Given the description of an element on the screen output the (x, y) to click on. 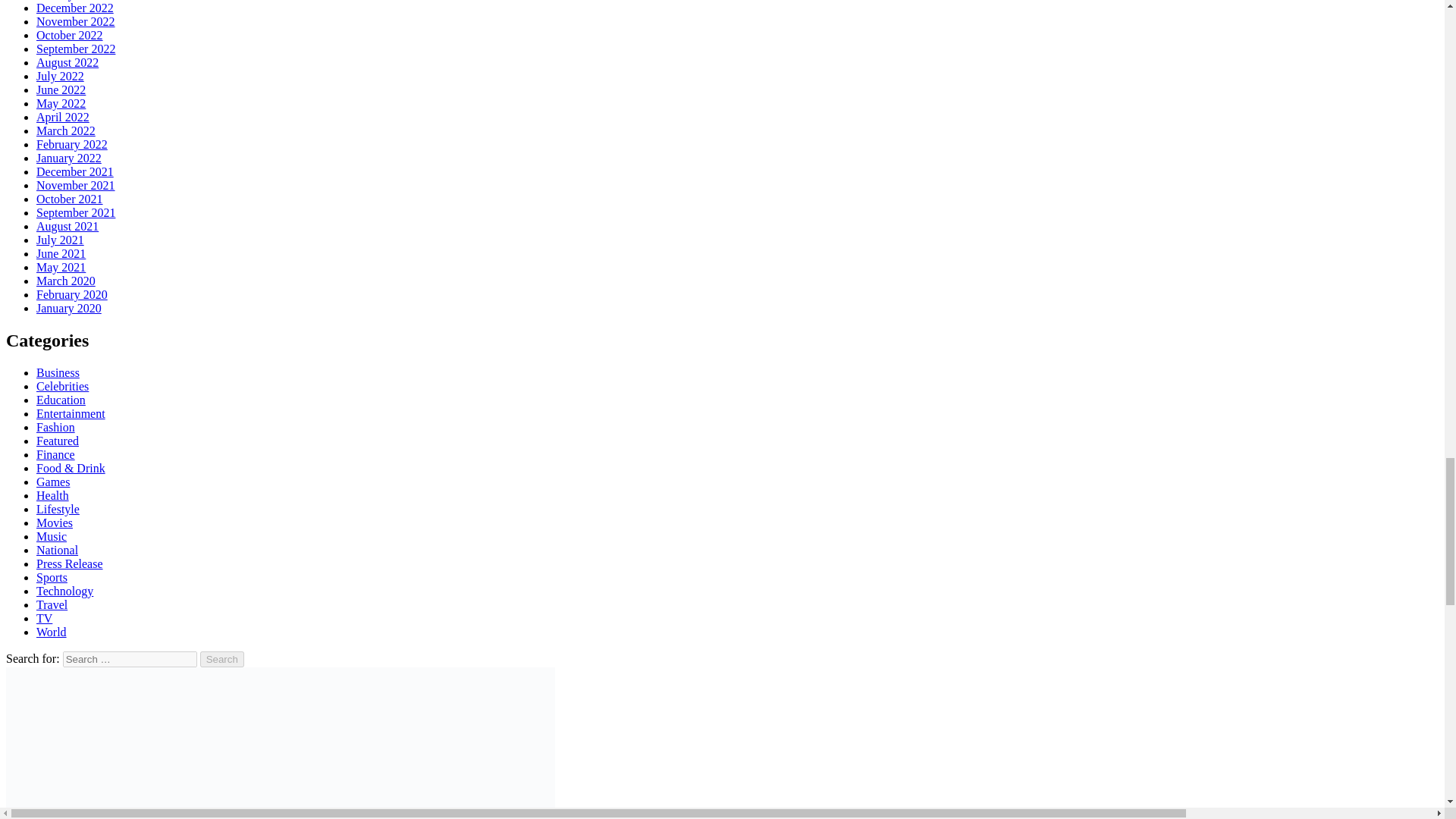
Search (222, 659)
Search (222, 659)
